Given the description of an element on the screen output the (x, y) to click on. 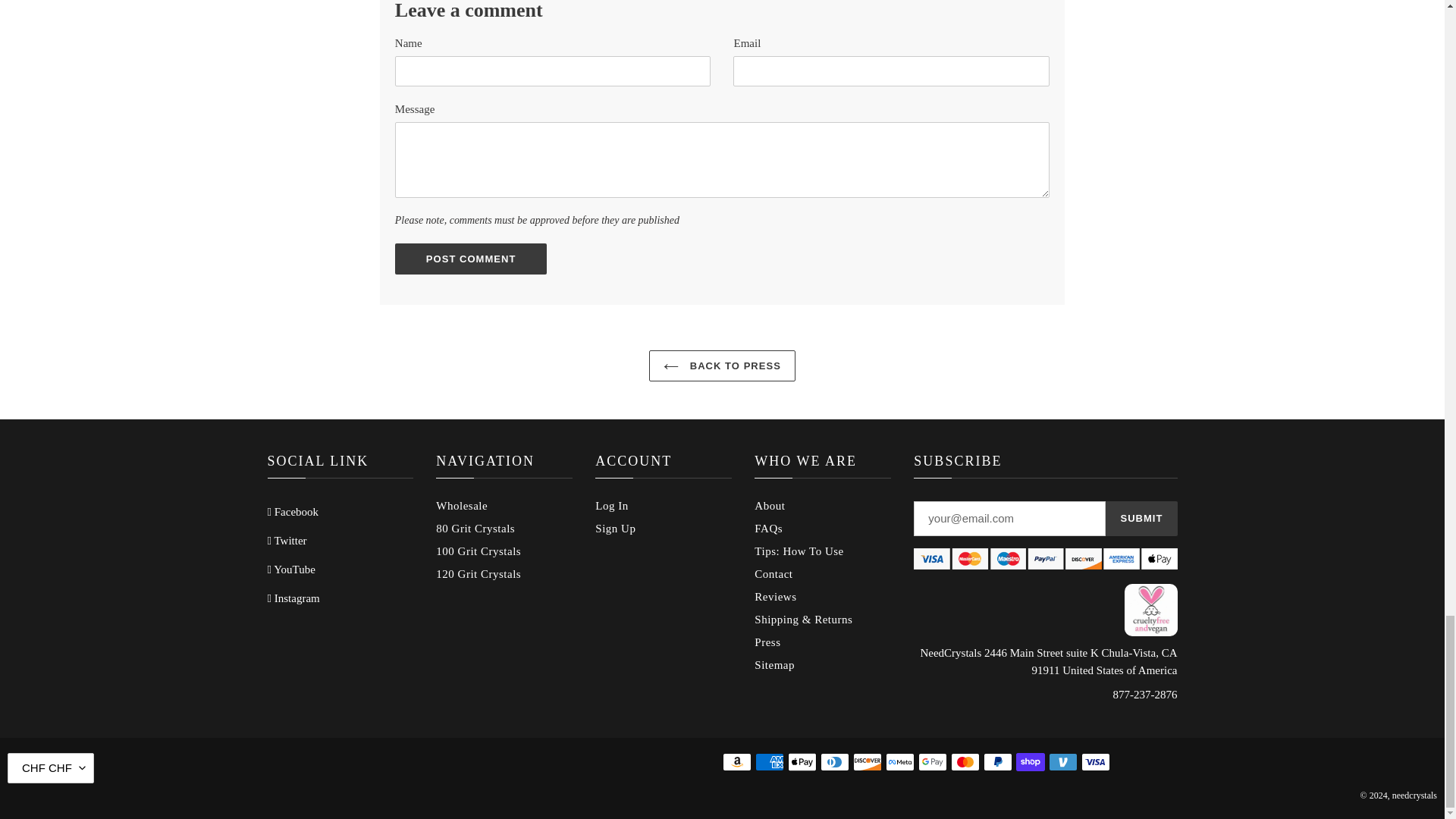
Instagram (292, 598)
needcrystals on YouTube (290, 569)
BACK TO PRESS (721, 366)
needcrystals on Twitter (285, 540)
Post comment (470, 259)
YouTube (290, 569)
needcrystals on Instagram (292, 598)
needcrystals on Facebook (292, 511)
Facebook (292, 511)
Twitter (285, 540)
Post comment (470, 259)
